Given the description of an element on the screen output the (x, y) to click on. 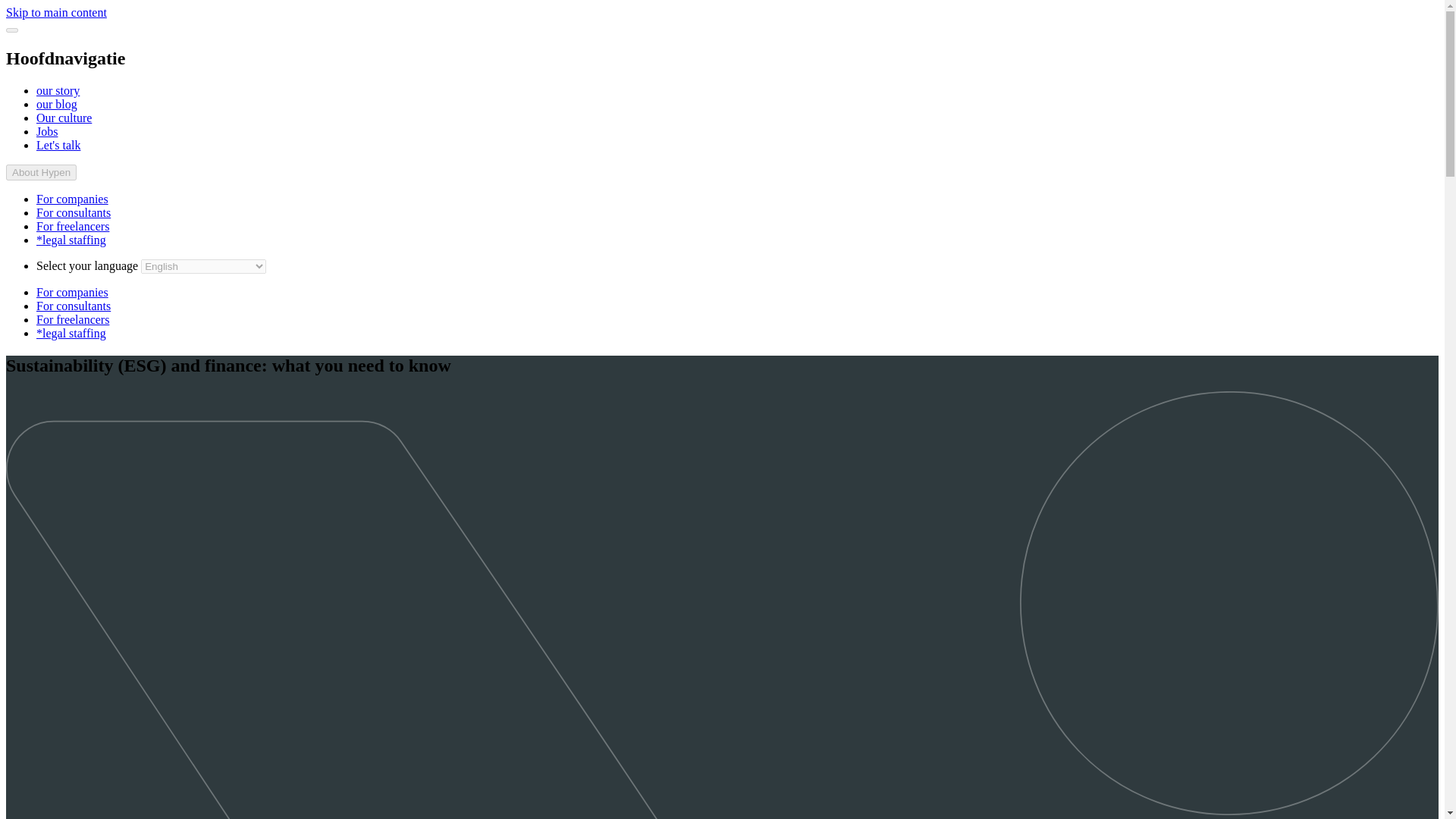
Let's talk (58, 144)
Skip to main content (55, 11)
For companies (71, 198)
For consultants (73, 212)
About Hypen (41, 172)
For freelancers (72, 226)
our story (58, 90)
our story (58, 90)
For freelancers (72, 318)
Jobs (47, 131)
For consultants (73, 305)
Our culture (63, 117)
For companies (71, 291)
our blog (56, 103)
